Given the description of an element on the screen output the (x, y) to click on. 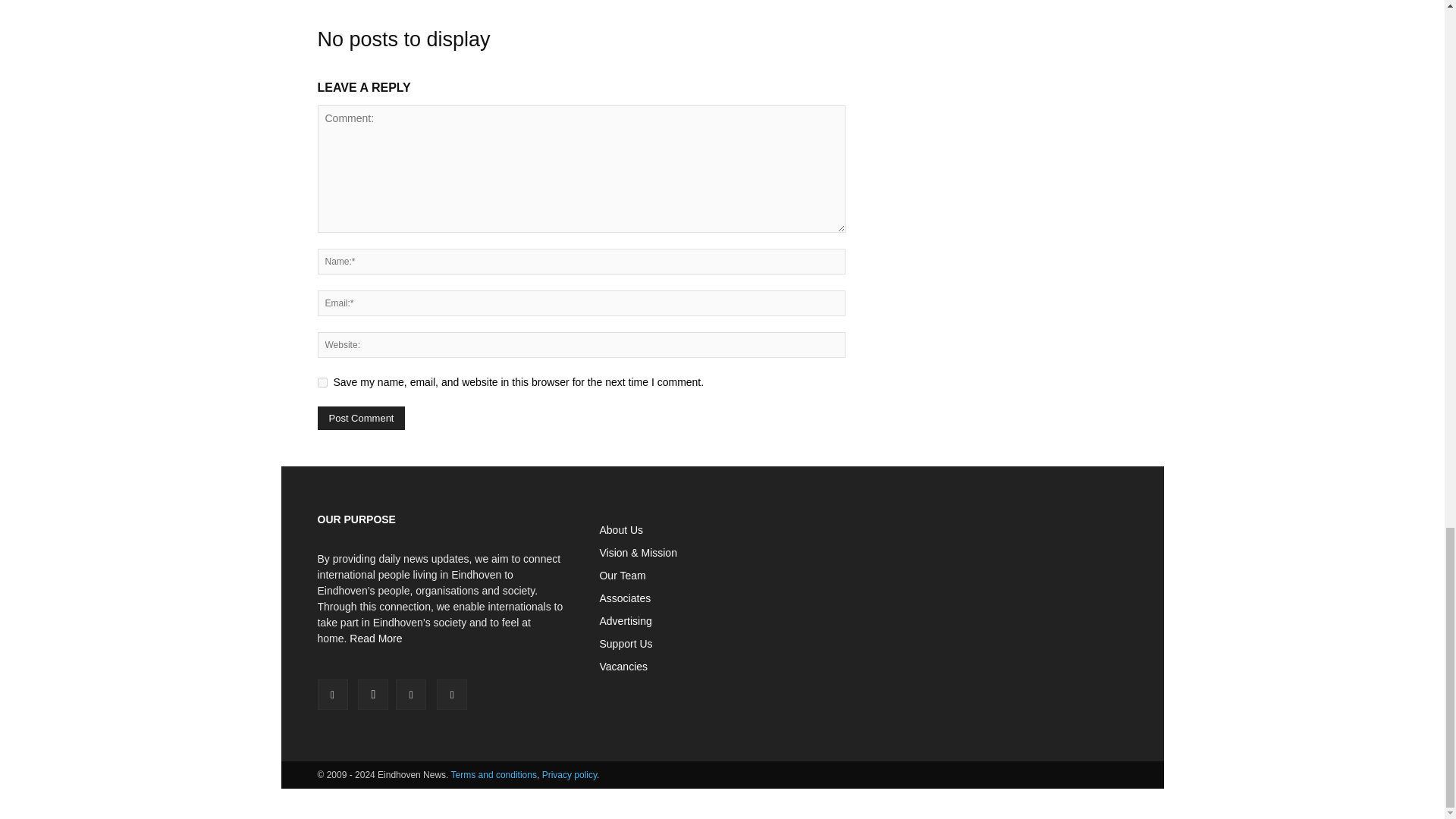
Post Comment (360, 417)
yes (321, 382)
